Given the description of an element on the screen output the (x, y) to click on. 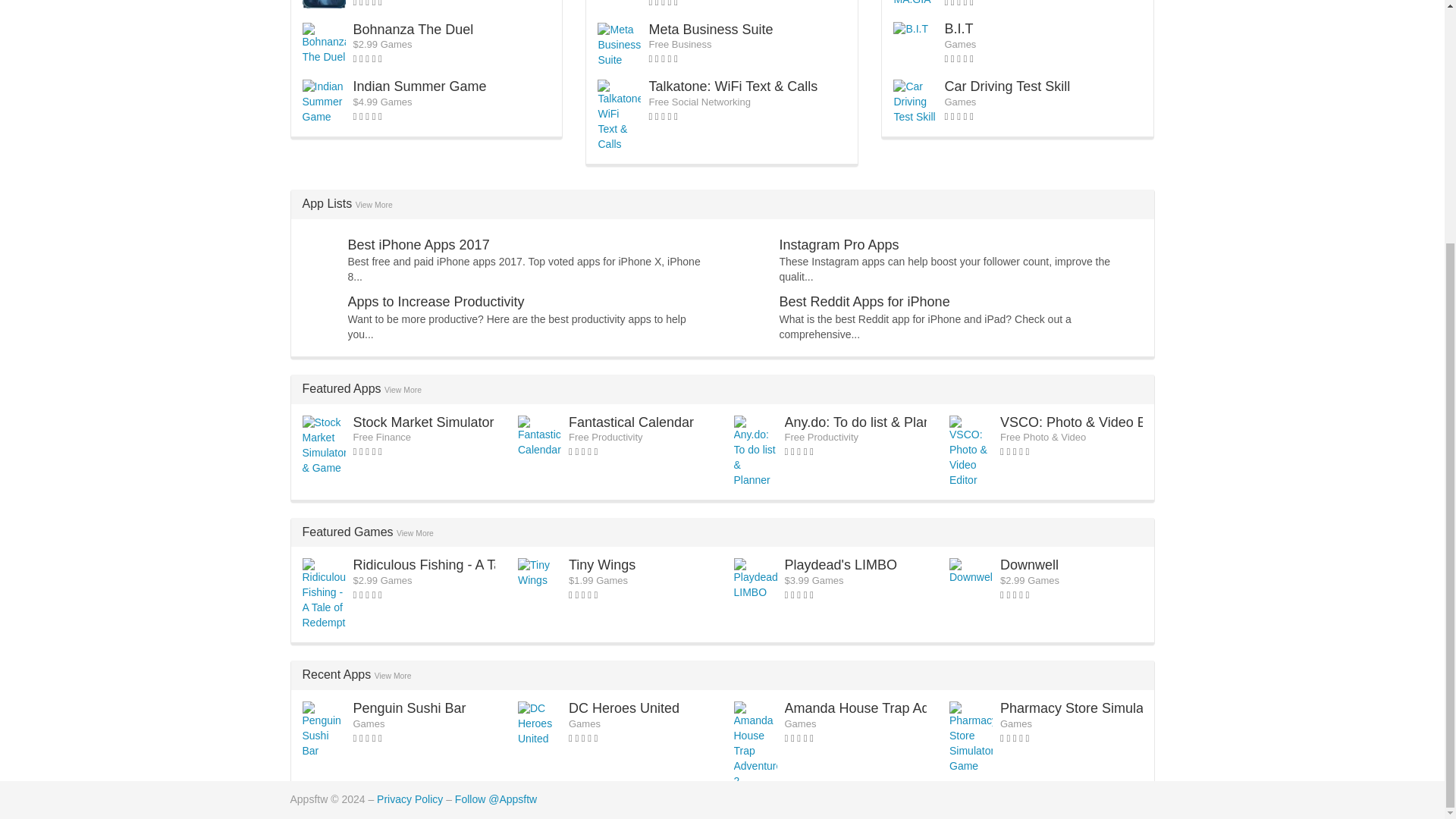
Bohnanza The Duel (413, 29)
Best Reddit Apps for iPhone (864, 301)
View Bohnanza The Duel (413, 29)
Apps to Increase Productivity (435, 301)
View Meta Business Suite (710, 29)
Indian Summer Game (419, 86)
B.I.T (957, 28)
View Car Driving Test Skill (1006, 86)
View B.I.T (957, 28)
Best iPhone Apps 2017 (418, 244)
Meta Business Suite (710, 29)
View Indian Summer Game (419, 86)
Instagram Pro Apps (838, 244)
